Given the description of an element on the screen output the (x, y) to click on. 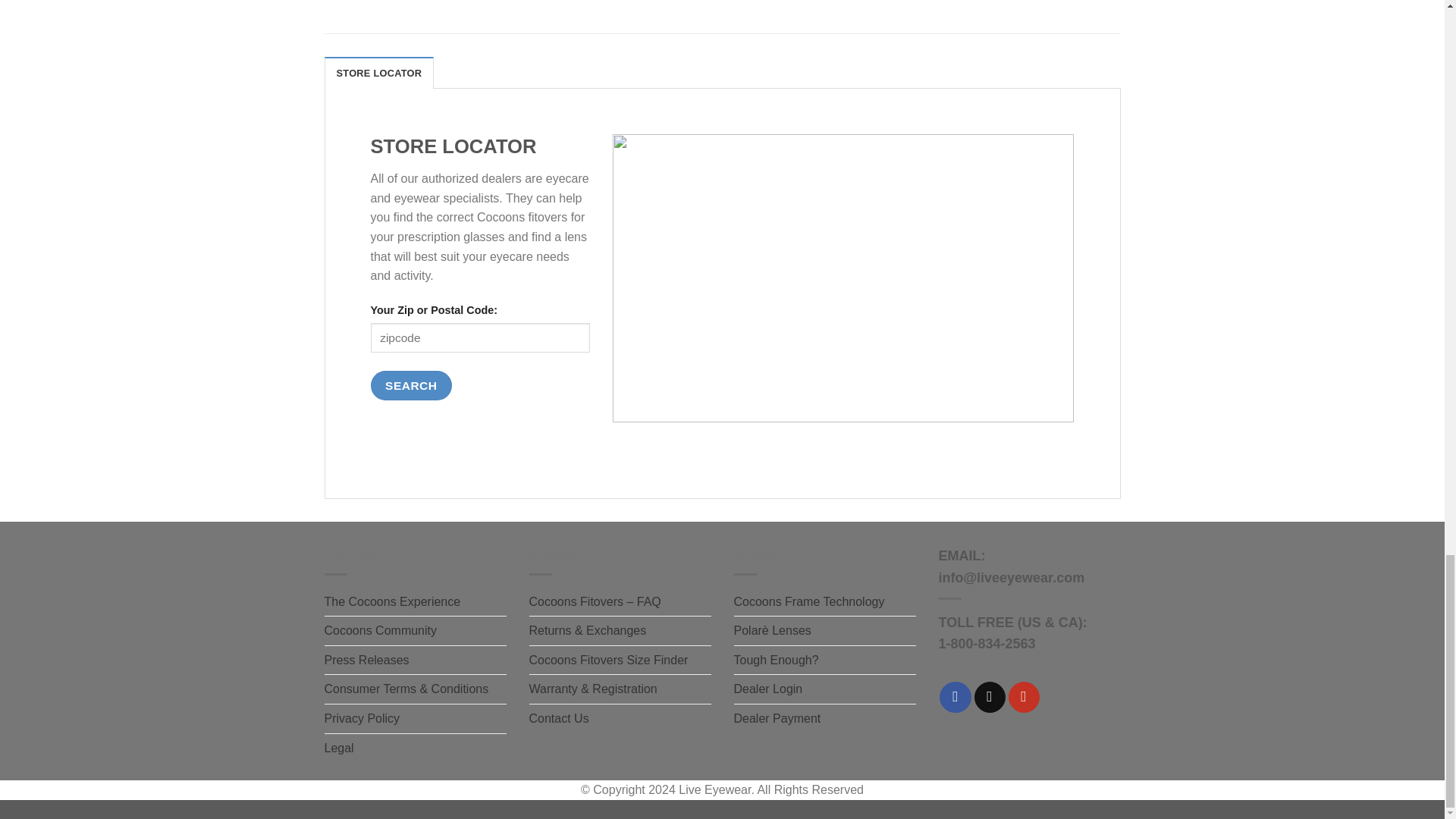
Send us an email (990, 696)
Follow on Facebook (955, 696)
Follow on YouTube (1024, 696)
Search (410, 385)
